Given the description of an element on the screen output the (x, y) to click on. 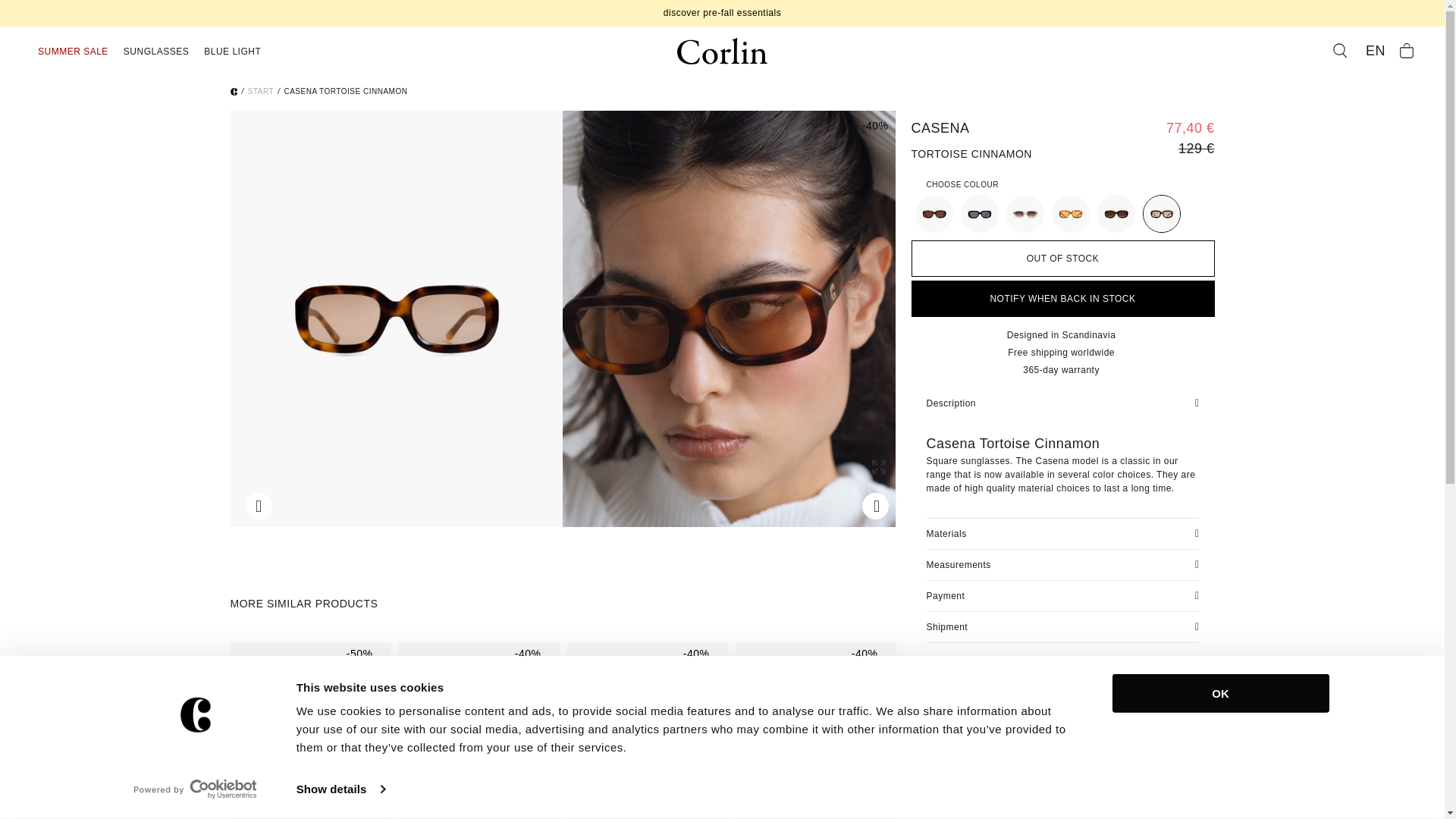
Blue light (231, 51)
Show details (340, 789)
Sunglasses (234, 91)
Sunglasses (156, 51)
Summer sale (72, 51)
